Given the description of an element on the screen output the (x, y) to click on. 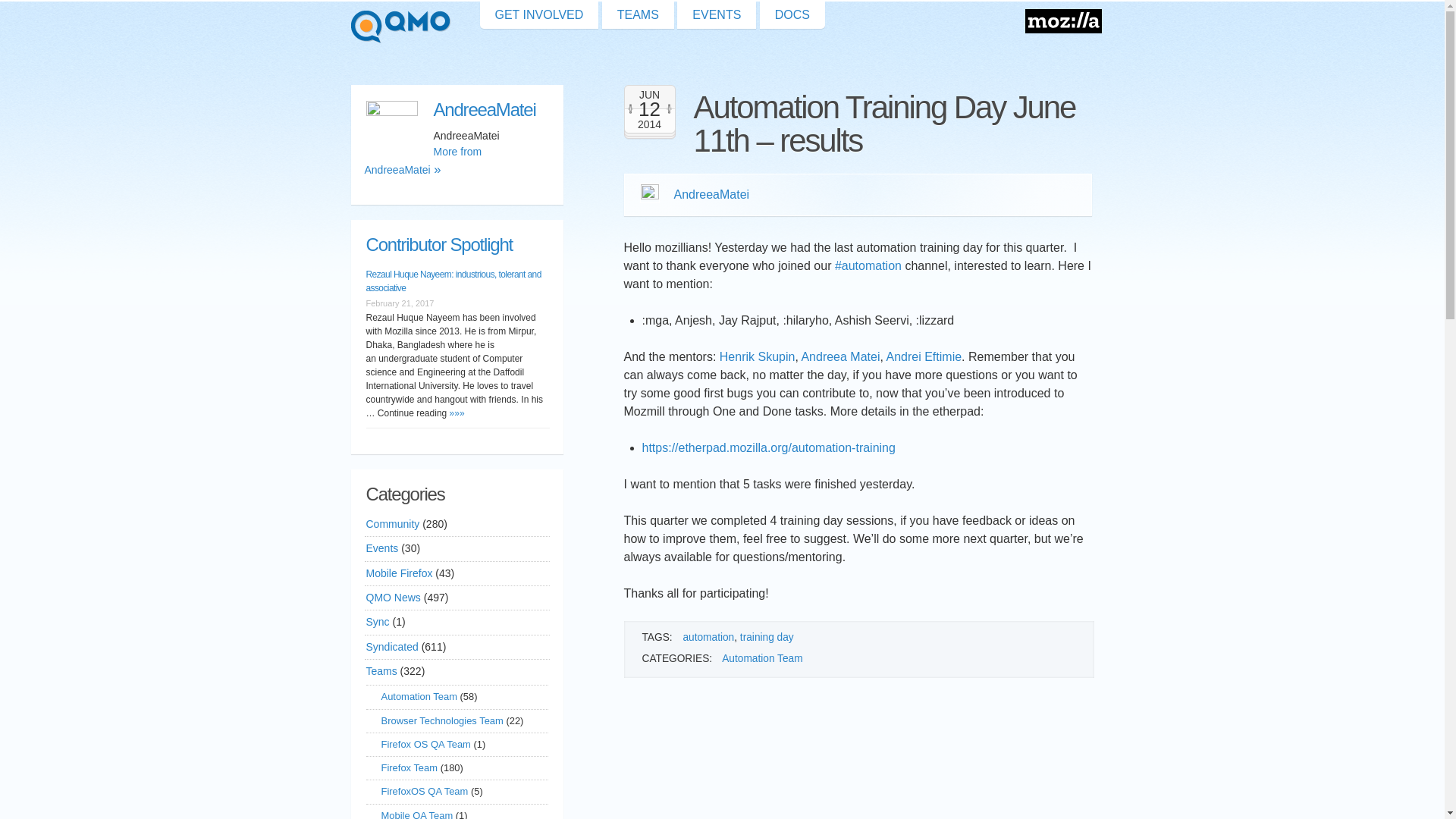
Firefox Team (409, 767)
Rezaul Huque Nayeem: industrious, tolerant and associative (452, 281)
Teams (380, 671)
TEAMS (638, 14)
DOCS (792, 14)
FirefoxOS QA Team (423, 791)
Henrik Skupin (756, 356)
Contributor Spotlight (438, 244)
QMO News (392, 597)
Syndicated (391, 647)
Andrei Eftimie (922, 356)
See all 4 posts by AndreeaMatei (710, 194)
AndreeaMatei (456, 108)
Mobile Firefox (398, 573)
See all posts from 2014 (648, 123)
